Given the description of an element on the screen output the (x, y) to click on. 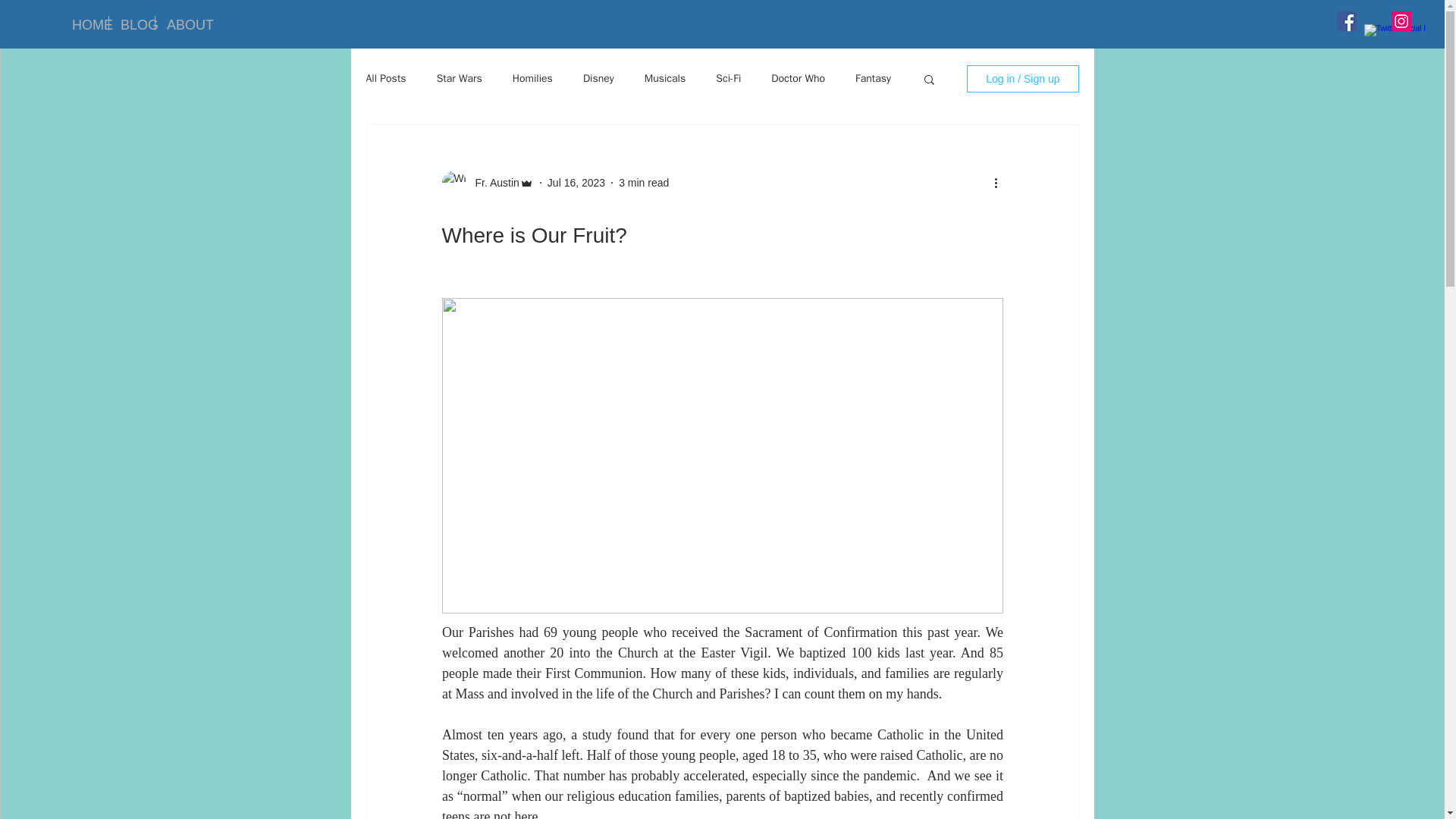
Sci-Fi (728, 78)
Homilies (532, 78)
Fr. Austin (491, 182)
Jul 16, 2023 (576, 182)
Star Wars (458, 78)
Fantasy (873, 78)
Disney (598, 78)
Musicals (665, 78)
HOME (84, 22)
BLOG (131, 22)
